Given the description of an element on the screen output the (x, y) to click on. 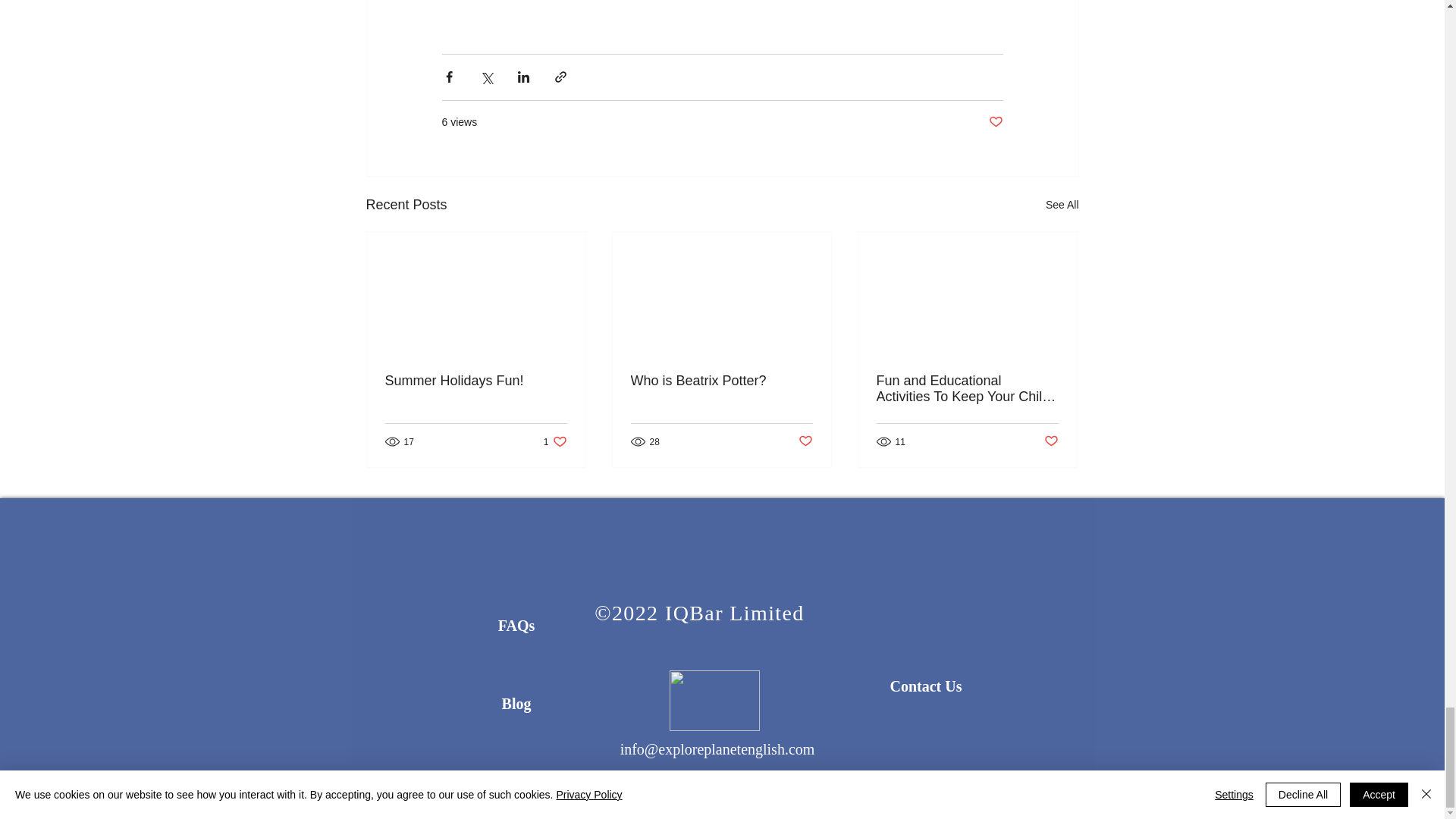
Who is Beatrix Potter? (721, 381)
Post not marked as liked (1050, 441)
Summer Holidays Fun! (476, 381)
See All (1061, 205)
Post not marked as liked (995, 122)
Post not marked as liked (555, 441)
